Given the description of an element on the screen output the (x, y) to click on. 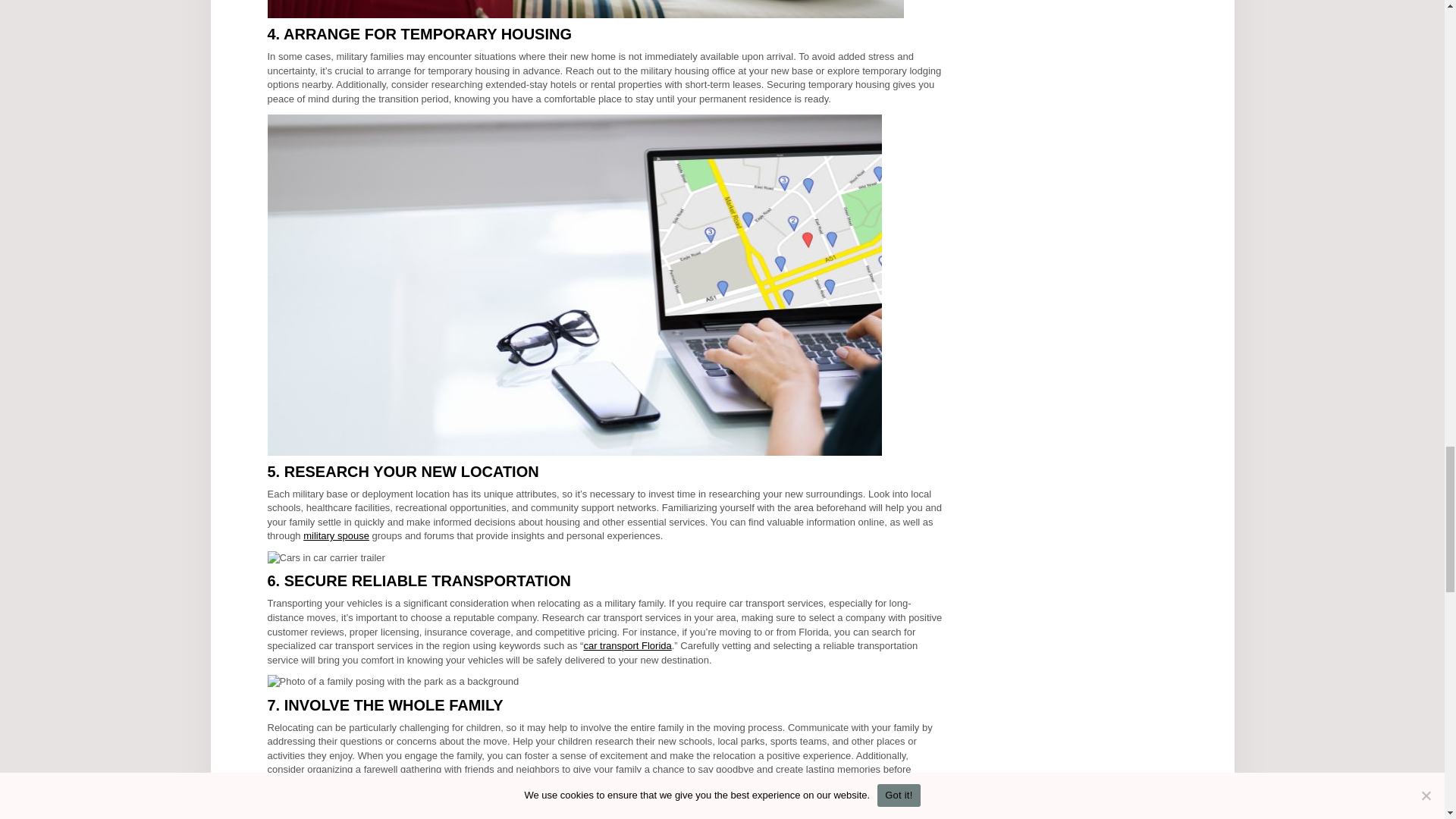
car transport Florida (627, 645)
military spouse (335, 535)
